Given the description of an element on the screen output the (x, y) to click on. 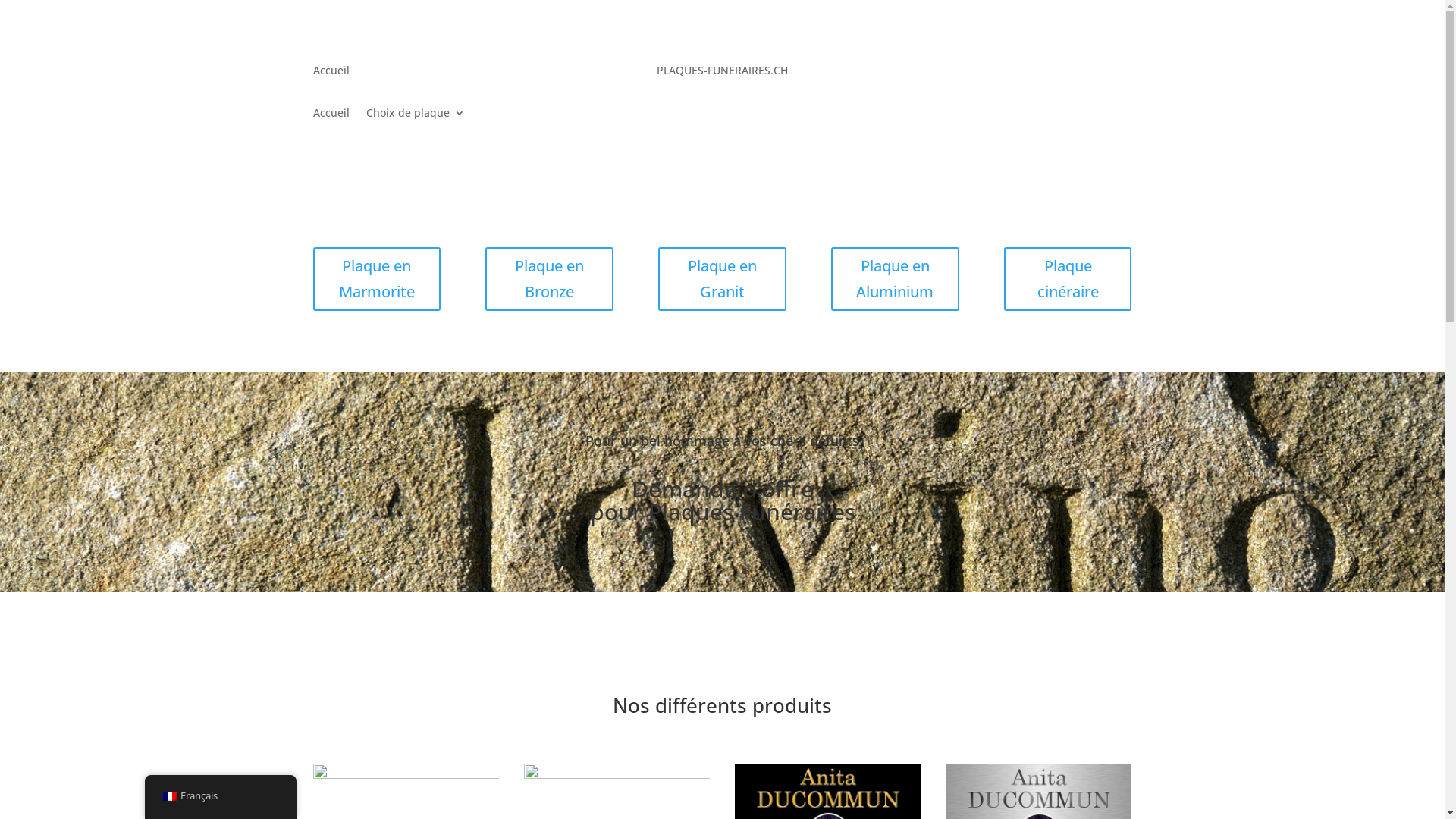
Plaque en Marmorite Element type: text (375, 278)
Plaque en Aluminium Element type: text (894, 278)
Accueil Element type: text (330, 115)
079 449 44 18 Element type: text (1070, 69)
Choix de plaque Element type: text (414, 115)
Plaque en Granit Element type: text (721, 278)
Plaque en Bronze Element type: text (548, 278)
